Given the description of an element on the screen output the (x, y) to click on. 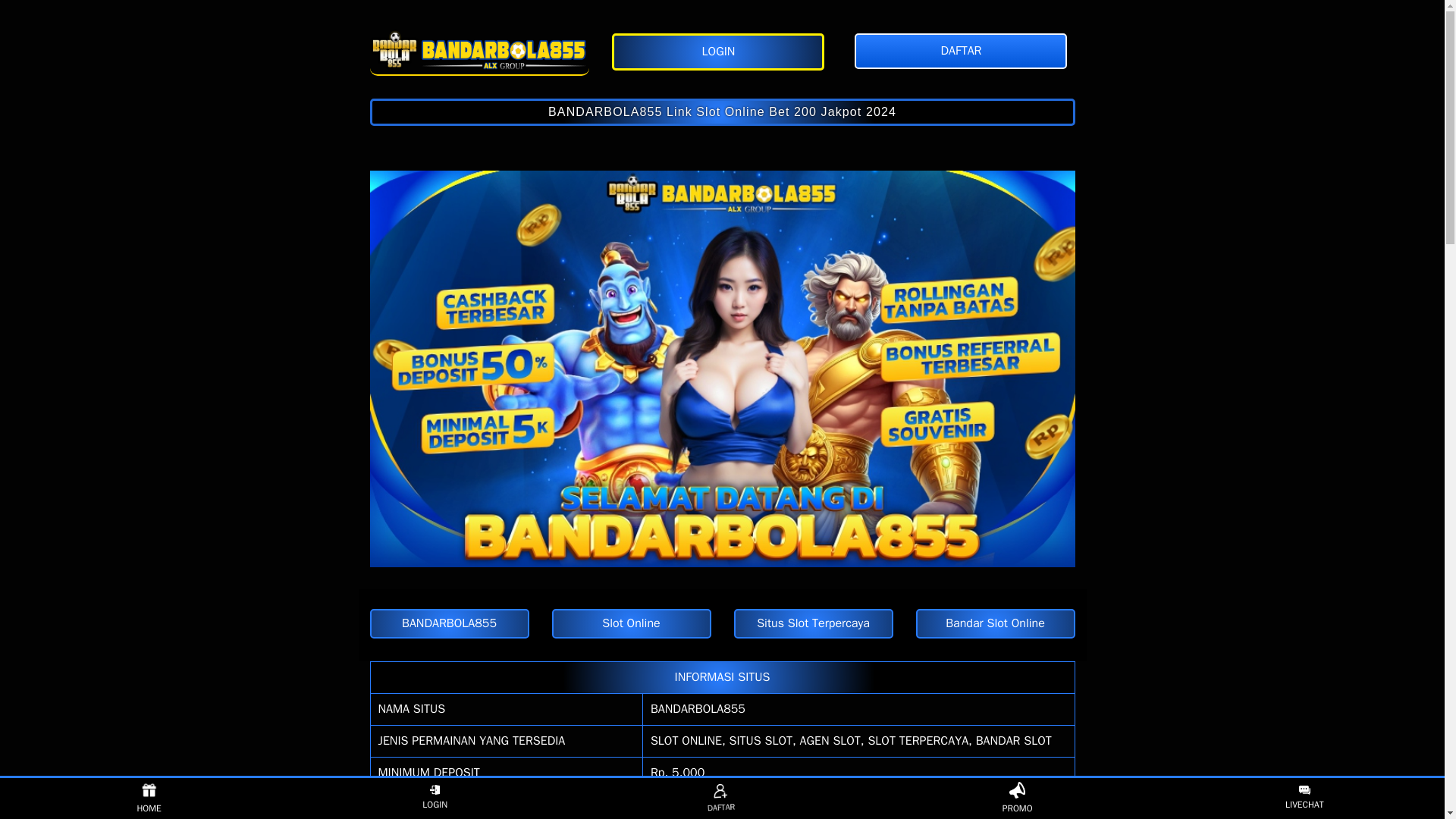
Bandar Slot Online (995, 623)
DAFTAR (716, 795)
Slot Online (631, 623)
BANDARBOLA855 Link Slot Online Bet 200 Jakpot 2024 (722, 112)
Situs Slot Terpercaya (479, 49)
LIVECHAT (1304, 797)
BANDARBOLA855 Link Slot Online Bet 200 Jakpot 2024 (722, 111)
BANDARBOLA855 (697, 708)
Situs Slot (449, 623)
HOME (148, 797)
